Given the description of an element on the screen output the (x, y) to click on. 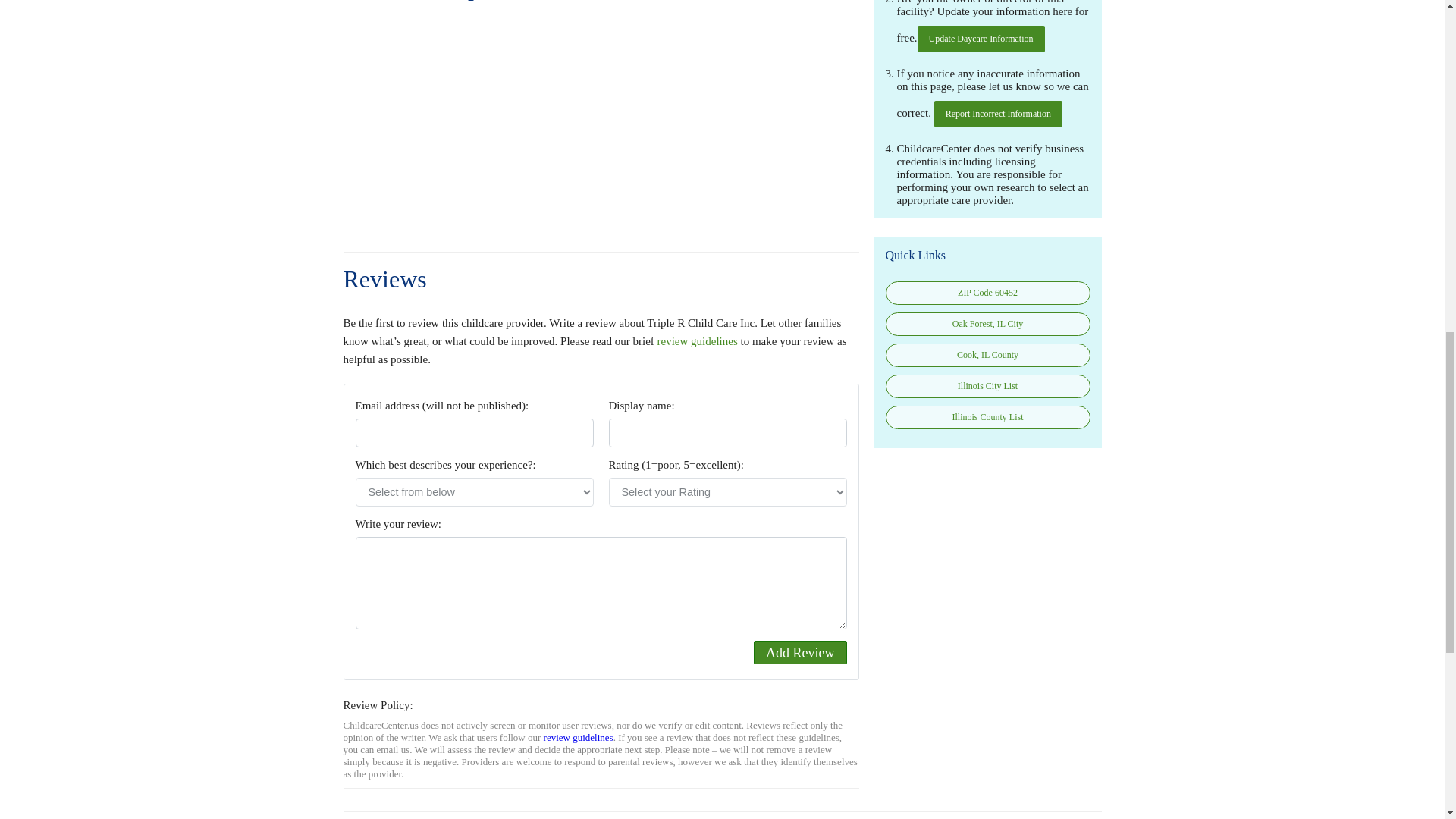
Illinois City List (987, 386)
Oak Forest, IL City (987, 323)
Add Review (799, 652)
Cook, IL County (987, 354)
Illinois County List (987, 417)
review guidelines (577, 737)
ZIP Code 60452 (987, 292)
Report Incorrect Information (998, 113)
Add Review (799, 652)
Update Daycare Information (981, 38)
review guidelines (698, 340)
